Given the description of an element on the screen output the (x, y) to click on. 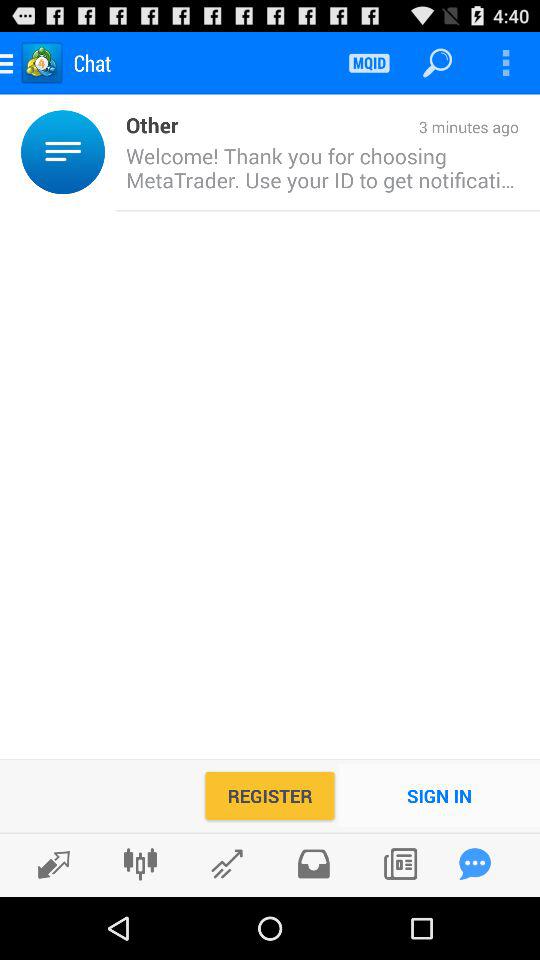
share the article (313, 863)
